Given the description of an element on the screen output the (x, y) to click on. 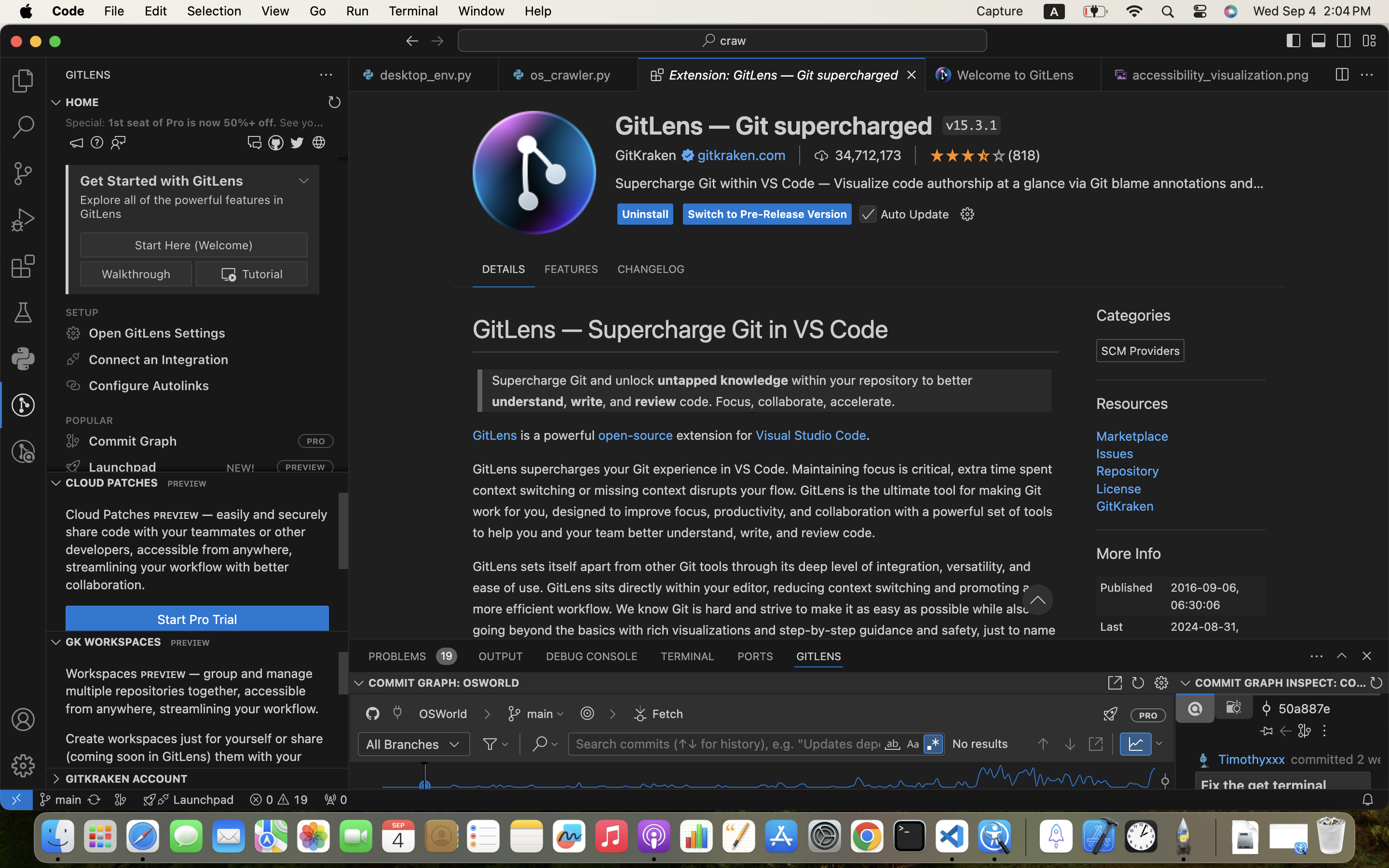
Get Started Element type: AXStaticText (1093, 183)
supercharged Element type: AXStaticText (516, 435)
 Element type: AXStaticText (1110, 713)
Categories Element type: AXStaticText (1133, 315)
 Element type: AXStaticText (983, 154)
